Given the description of an element on the screen output the (x, y) to click on. 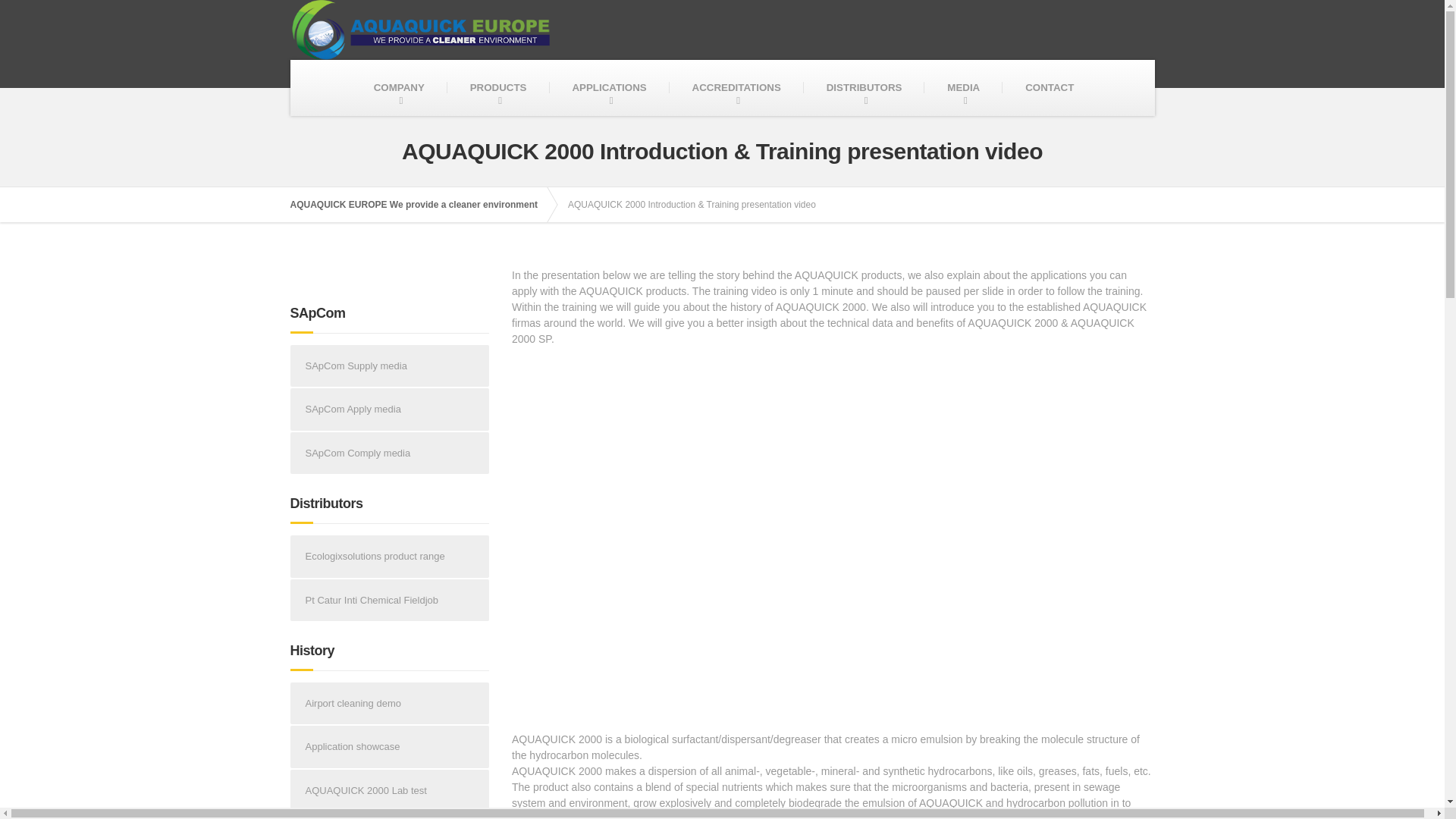
APPLICATIONS (608, 87)
PRODUCTS (498, 87)
DISTRIBUTORS (863, 87)
Go to AQUAQUICK EUROPE We provide a cleaner environment. (421, 204)
ACCREDITATIONS (736, 87)
COMPANY (398, 87)
